Given the description of an element on the screen output the (x, y) to click on. 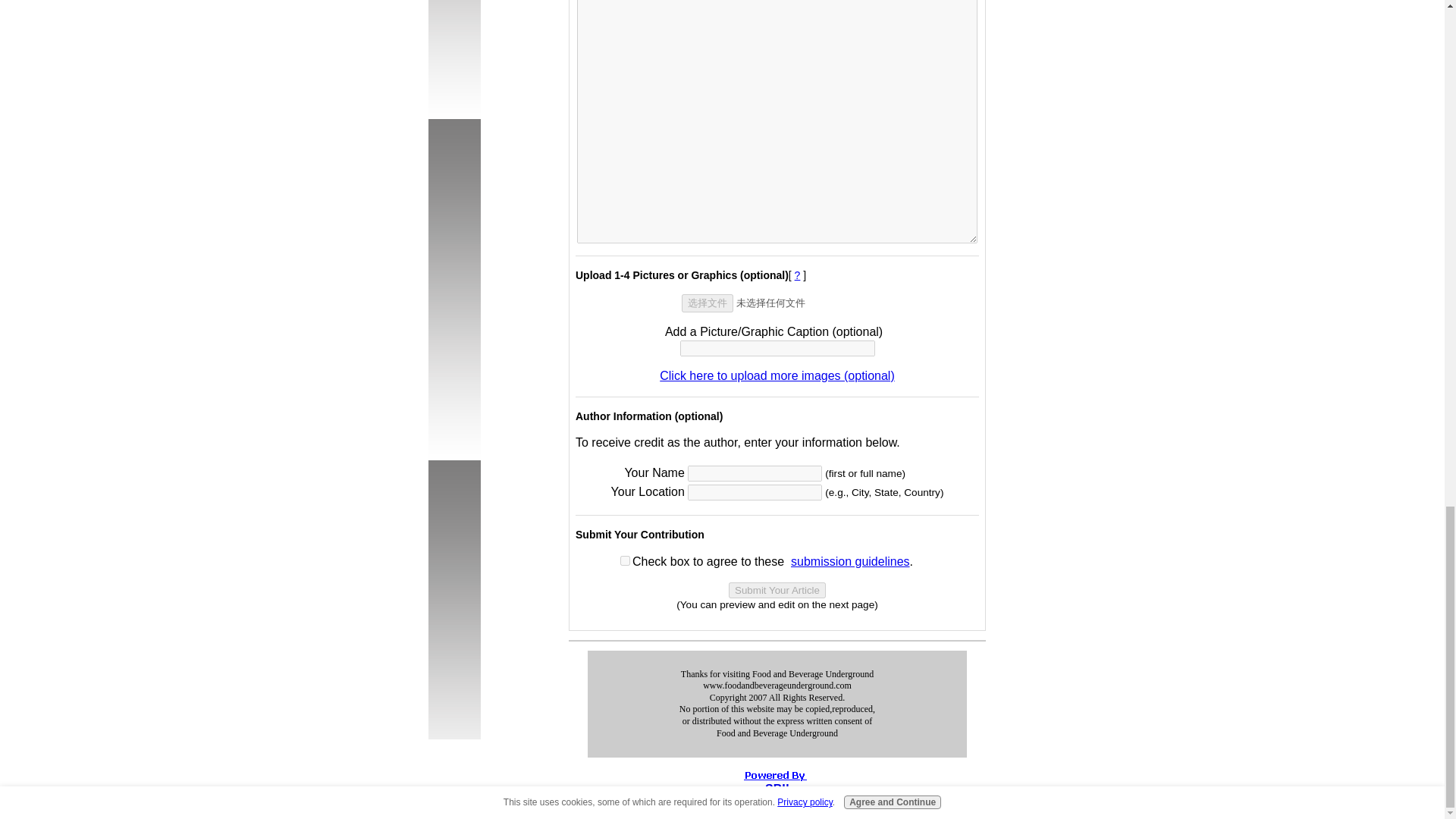
Submit Your Article (777, 590)
? (797, 275)
Submit Your Article (777, 590)
checkbox (625, 560)
SBI! (777, 788)
submission guidelines (850, 561)
